Given the description of an element on the screen output the (x, y) to click on. 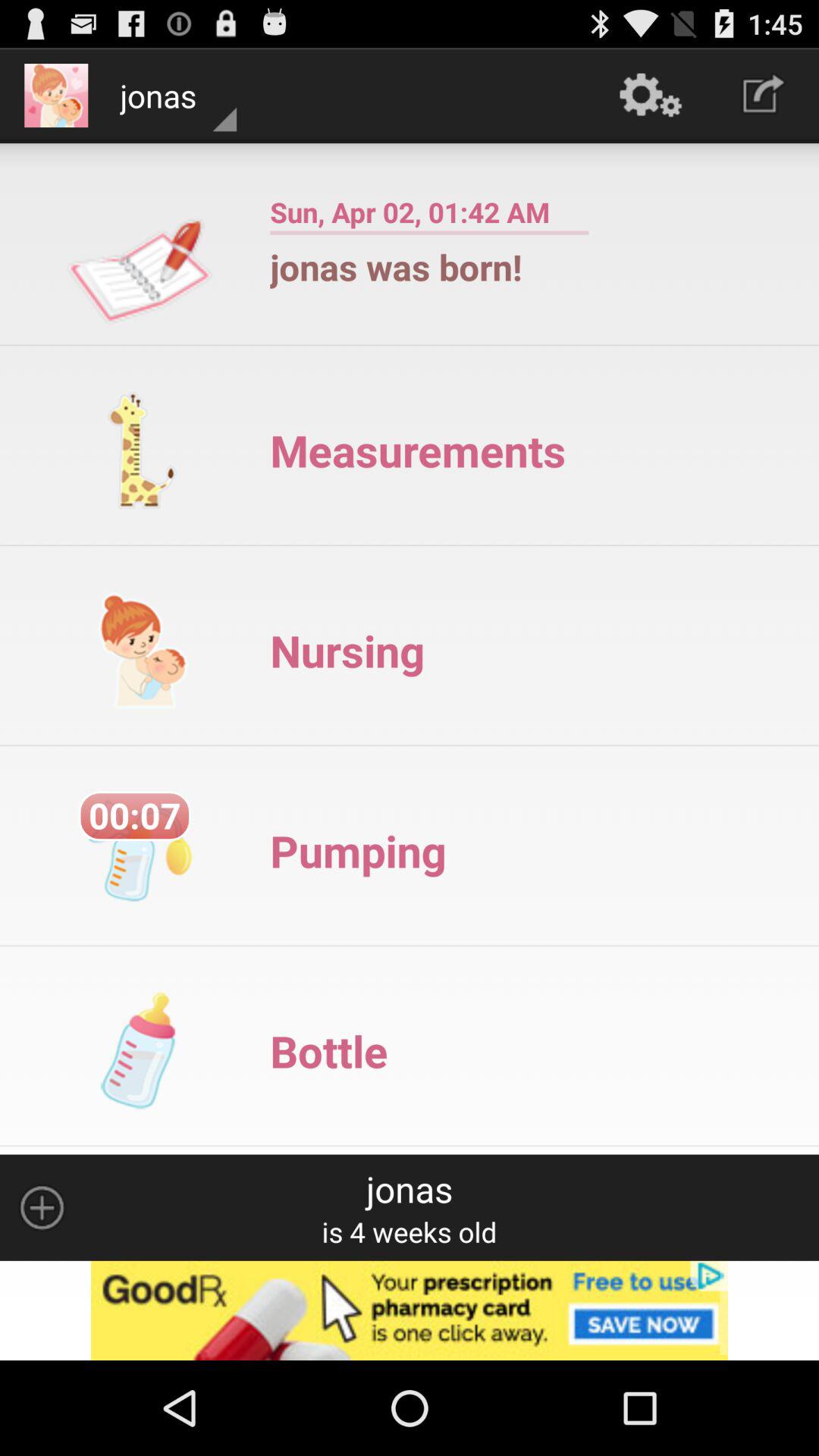
open options (41, 1207)
